Given the description of an element on the screen output the (x, y) to click on. 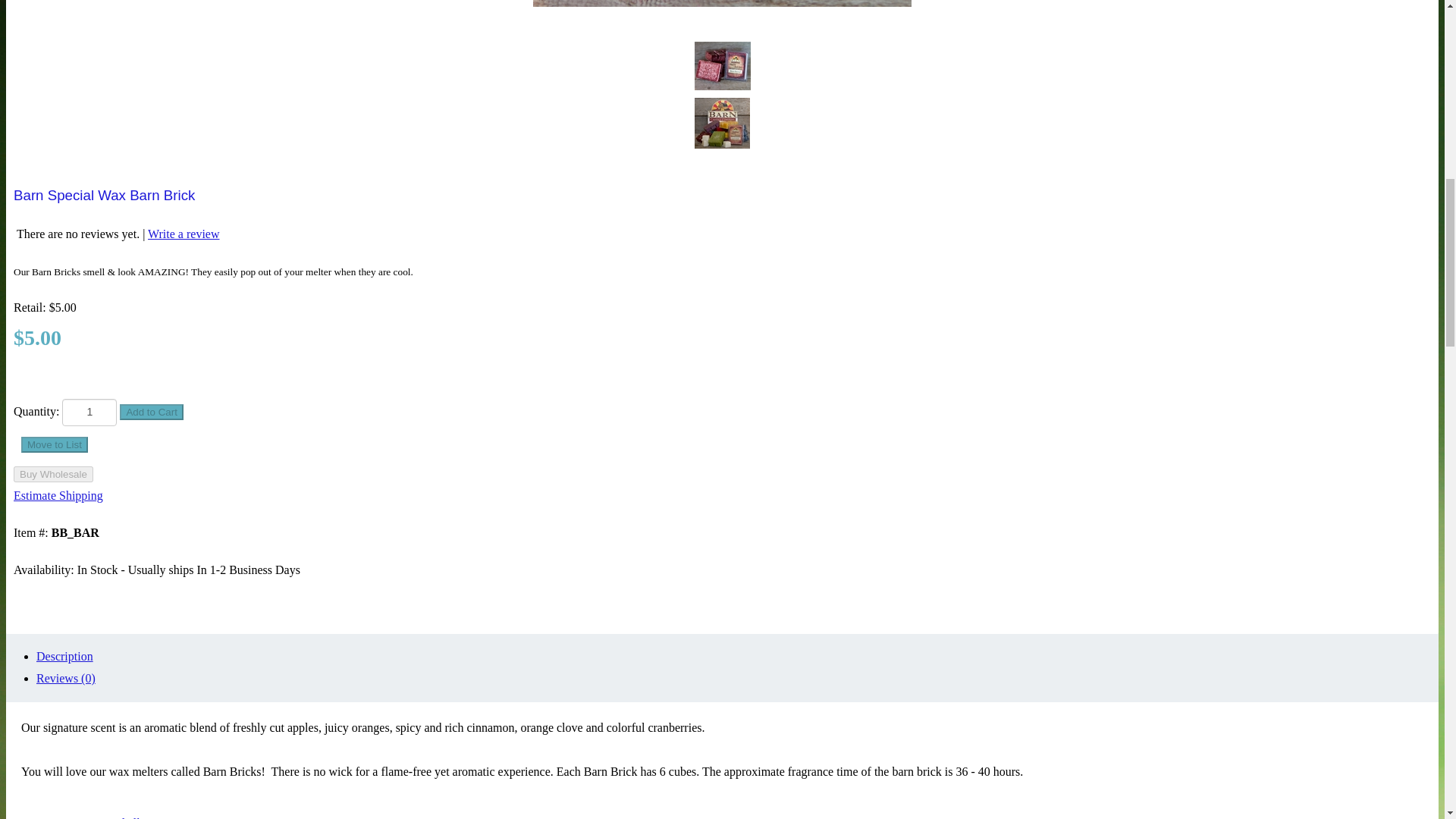
Move to List (54, 444)
Estimate Shipping (58, 495)
Move to List (54, 444)
Add to Cart (151, 412)
Read all reviews (140, 817)
Add to Cart (151, 412)
Write a review! (59, 817)
Buy Wholesale (53, 474)
Write a review (183, 233)
1 (89, 411)
Description (64, 656)
